Given the description of an element on the screen output the (x, y) to click on. 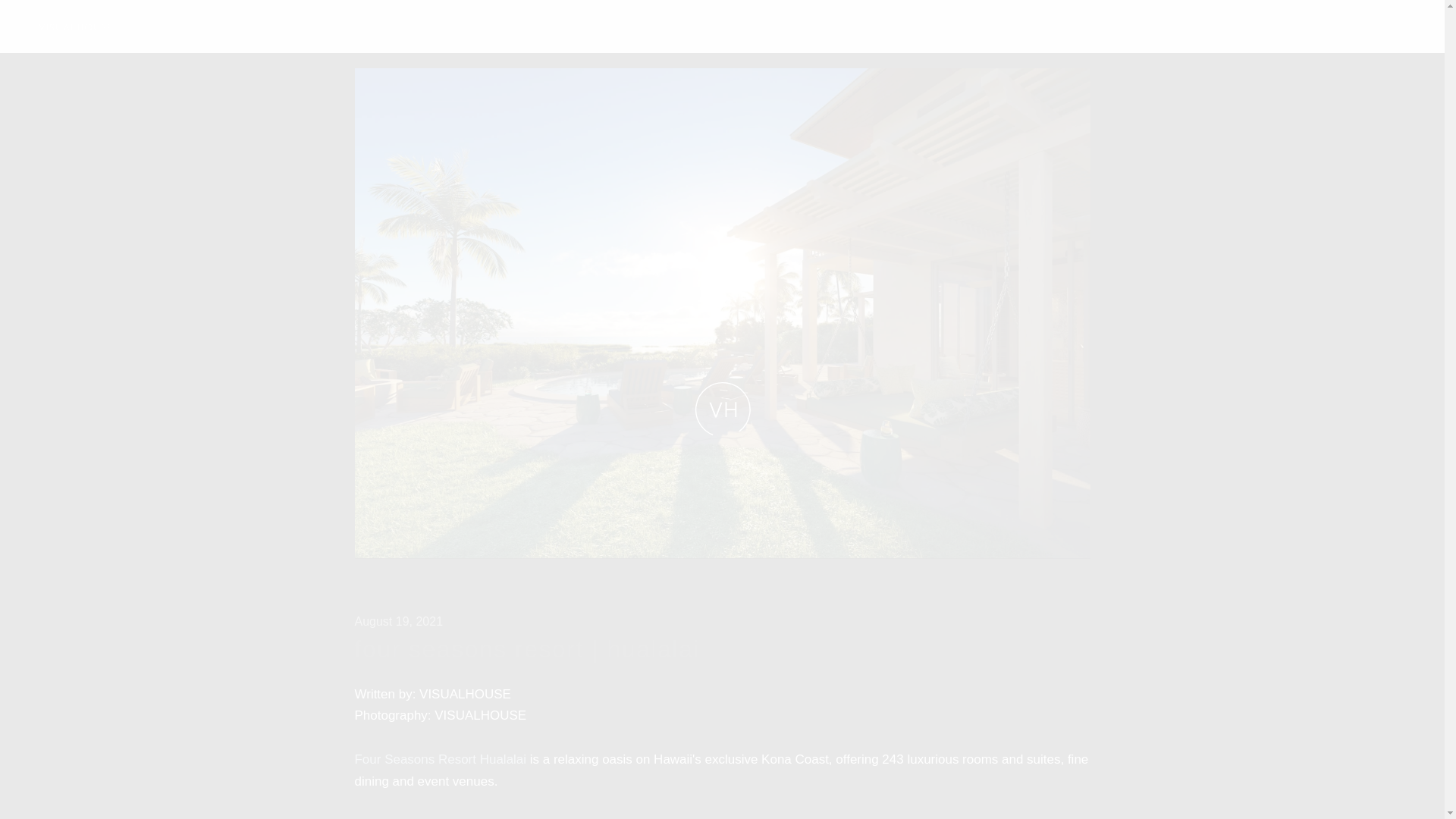
Four Seasons Resort Hualalai (441, 759)
August 19, 2021 (399, 621)
VISUALHOUSE (75, 26)
